Given the description of an element on the screen output the (x, y) to click on. 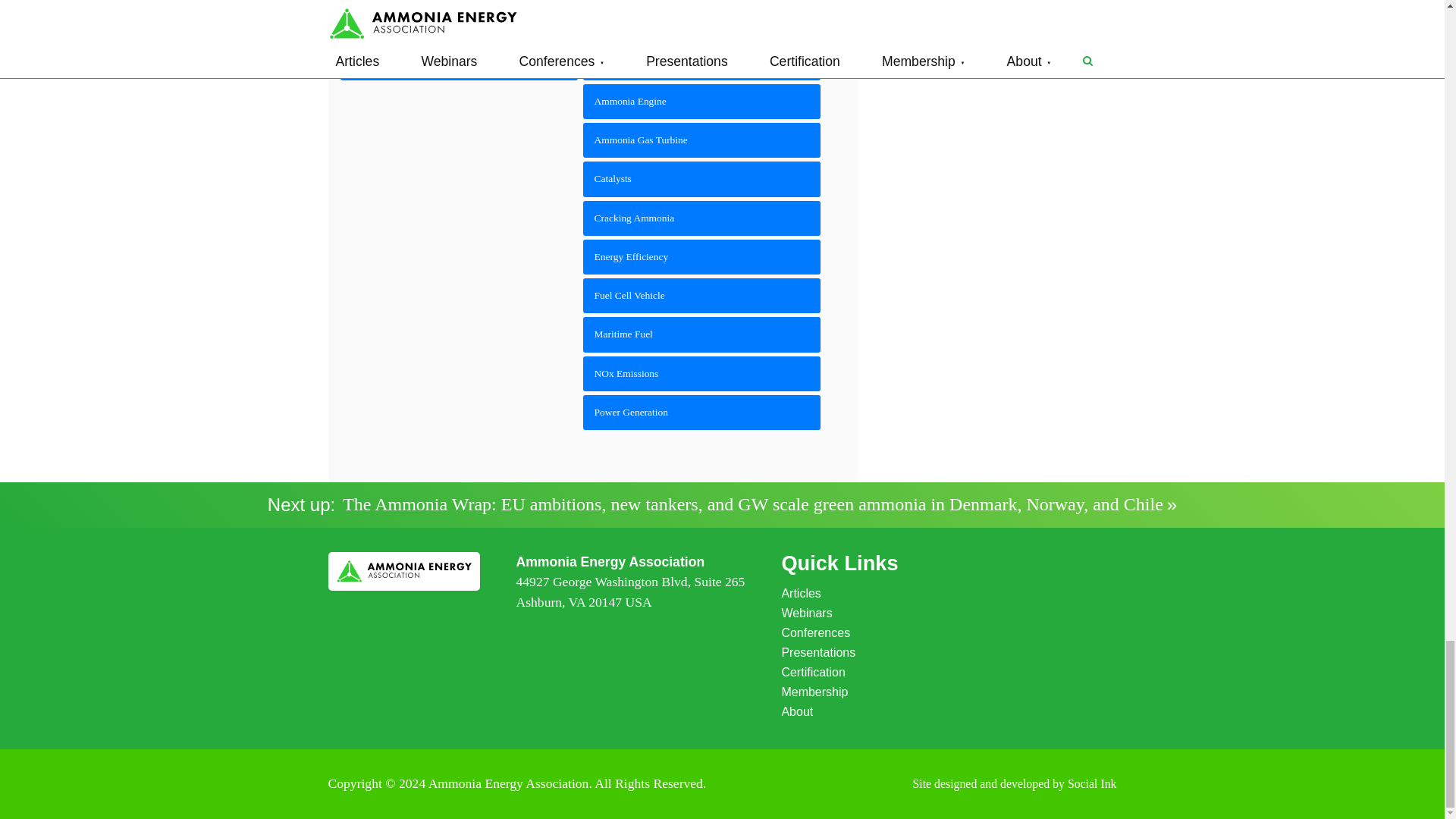
See other items in Power Generation Topics (702, 411)
See other items in NOx Emissions Topics (702, 373)
See other items in Energy Efficiency Topics (702, 256)
See other items in Cracking Ammonia Topics (702, 217)
See other items in Fuel Cell Vehicle Topics (702, 295)
See other items in Maritime Fuel Topics (702, 334)
See other items in Ammonia Gas Turbine Topics (702, 140)
See other items in Catalysts Topics (702, 178)
See other items in Conference Categories (457, 62)
See other items in Ammonia Engine Topics (702, 101)
